Given the description of an element on the screen output the (x, y) to click on. 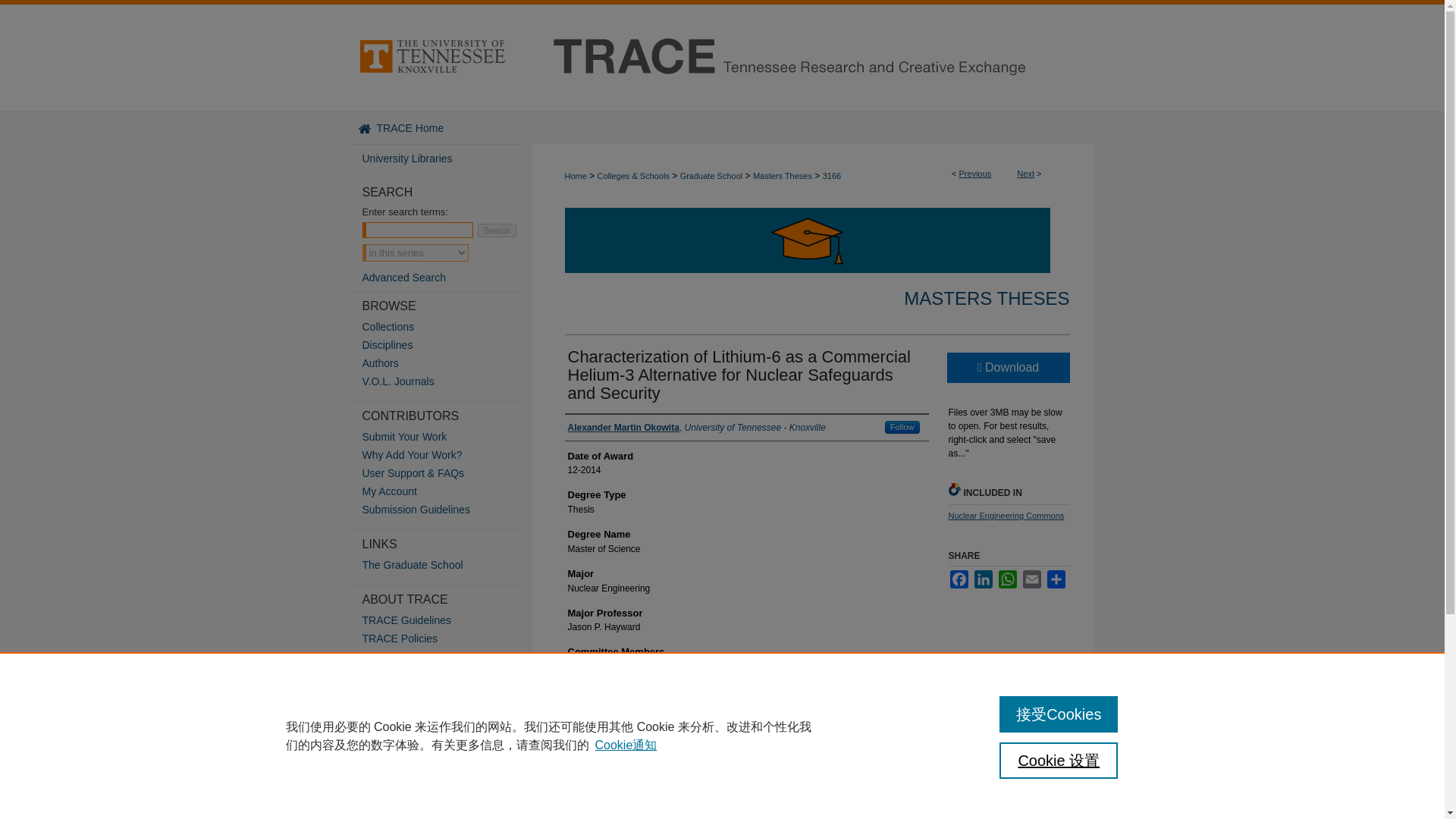
Advanced Search (404, 277)
Search (496, 230)
Collections (447, 326)
Browse by Disciplines (447, 345)
University Libraries (441, 158)
Masters Theses (782, 175)
Disciplines (447, 345)
Previous (975, 173)
Search (496, 230)
Follow Alexander Martin Okowita (902, 427)
Facebook (958, 579)
Authors (447, 363)
Email (1031, 579)
Browse by Author (447, 363)
Browse V.O.L. Journal (447, 381)
